Given the description of an element on the screen output the (x, y) to click on. 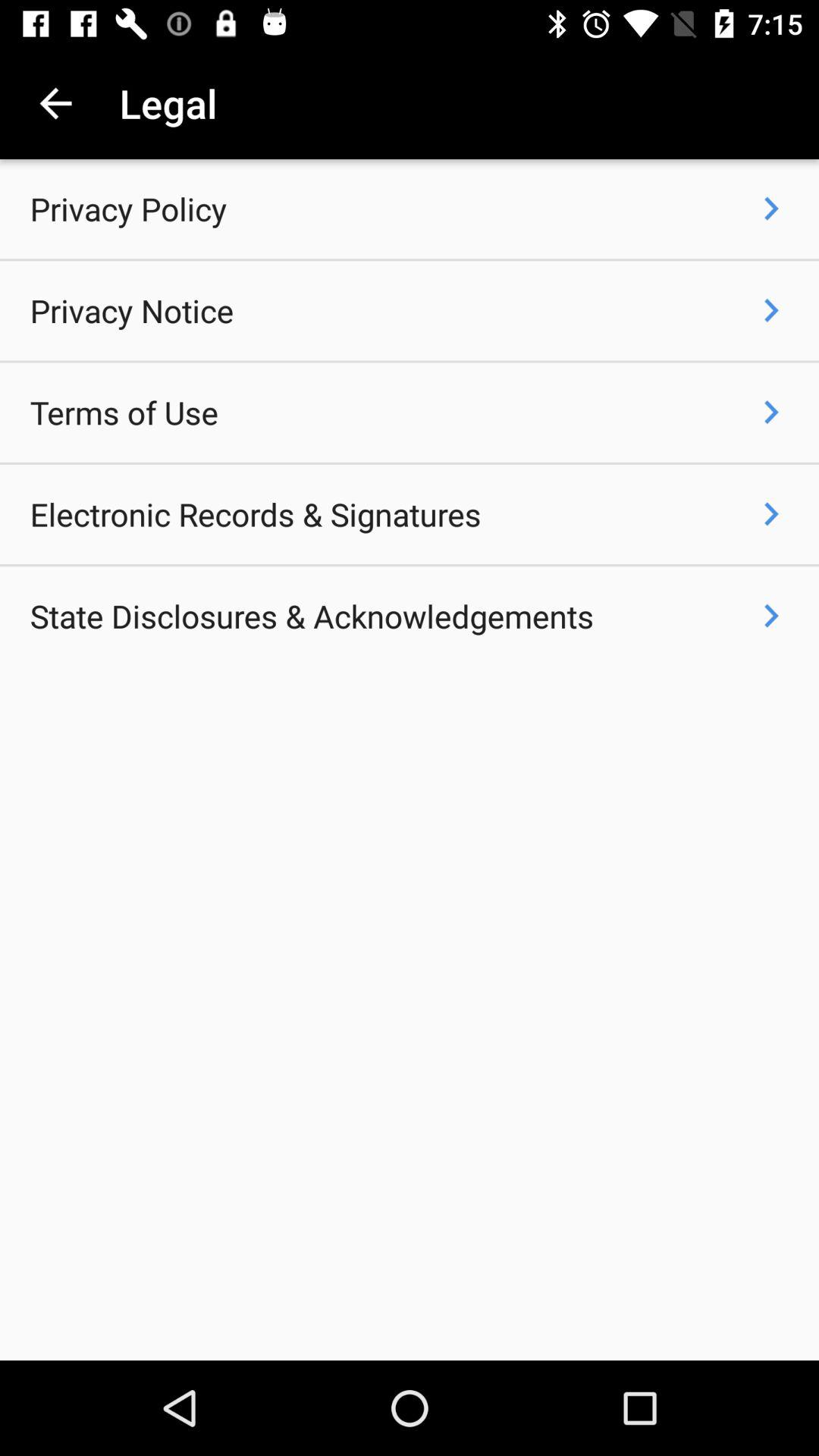
turn off the icon above the terms of use icon (131, 310)
